Given the description of an element on the screen output the (x, y) to click on. 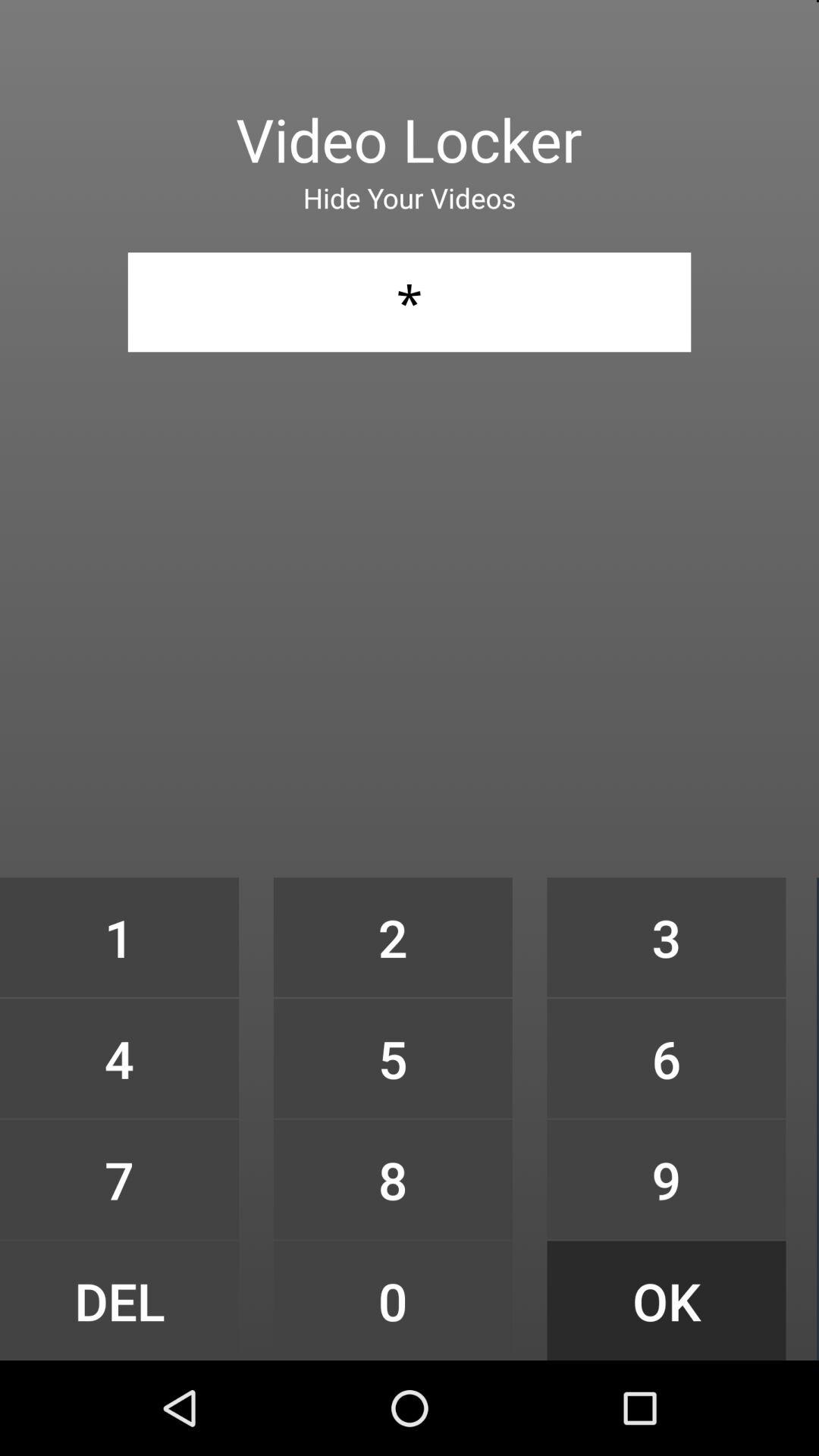
open icon to the left of the 8 icon (119, 1300)
